Given the description of an element on the screen output the (x, y) to click on. 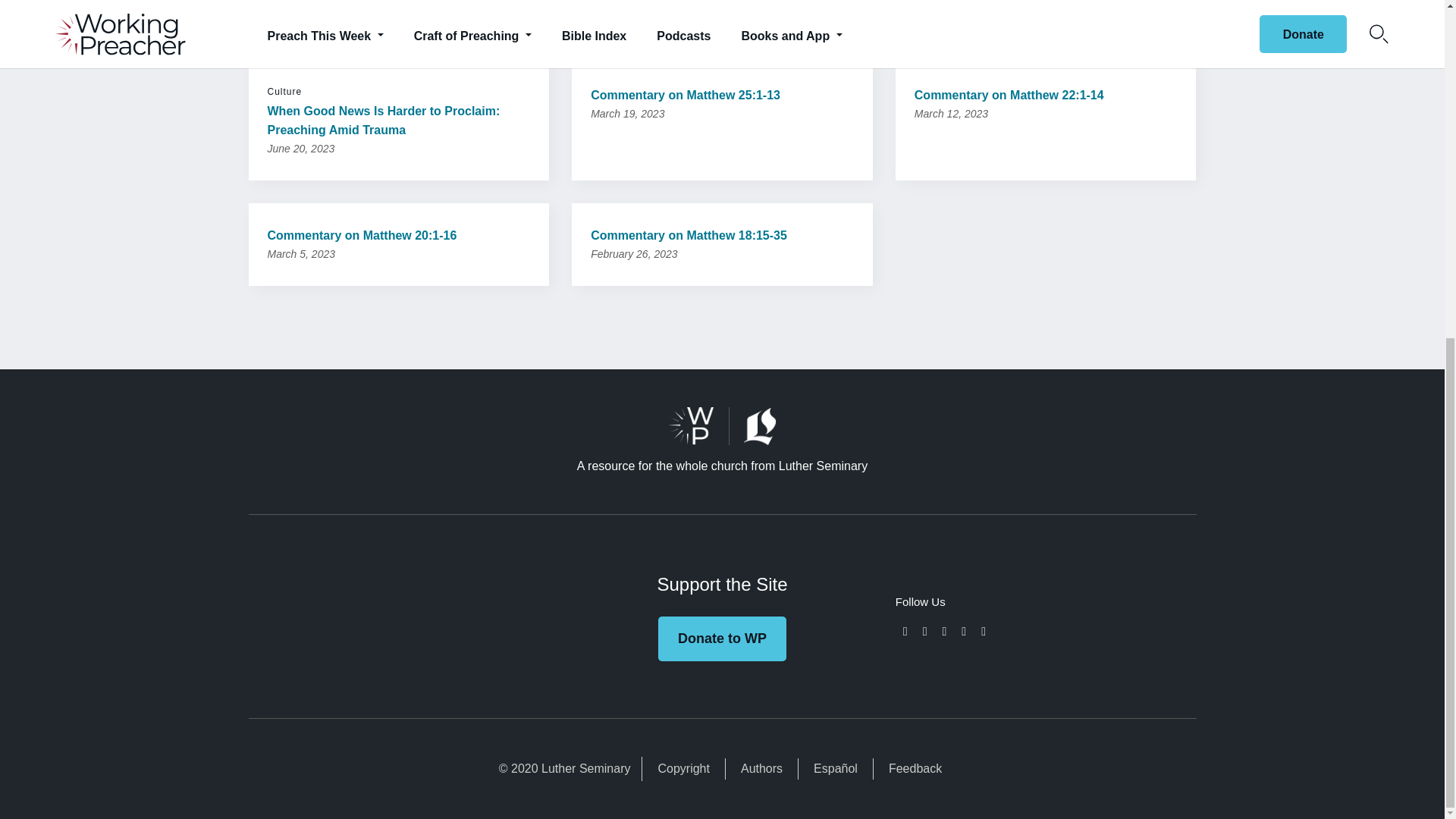
Commentary on Matthew 18:15-35 (722, 235)
When Good News Is Harder to Proclaim: Preaching Amid Trauma (397, 120)
Donate to WP (722, 638)
Commentary on Matthew 22:1-14 (1045, 94)
Commentary on Matthew 20:1-16 (397, 235)
Commentary on Matthew 25:1-13 (722, 94)
